Given the description of an element on the screen output the (x, y) to click on. 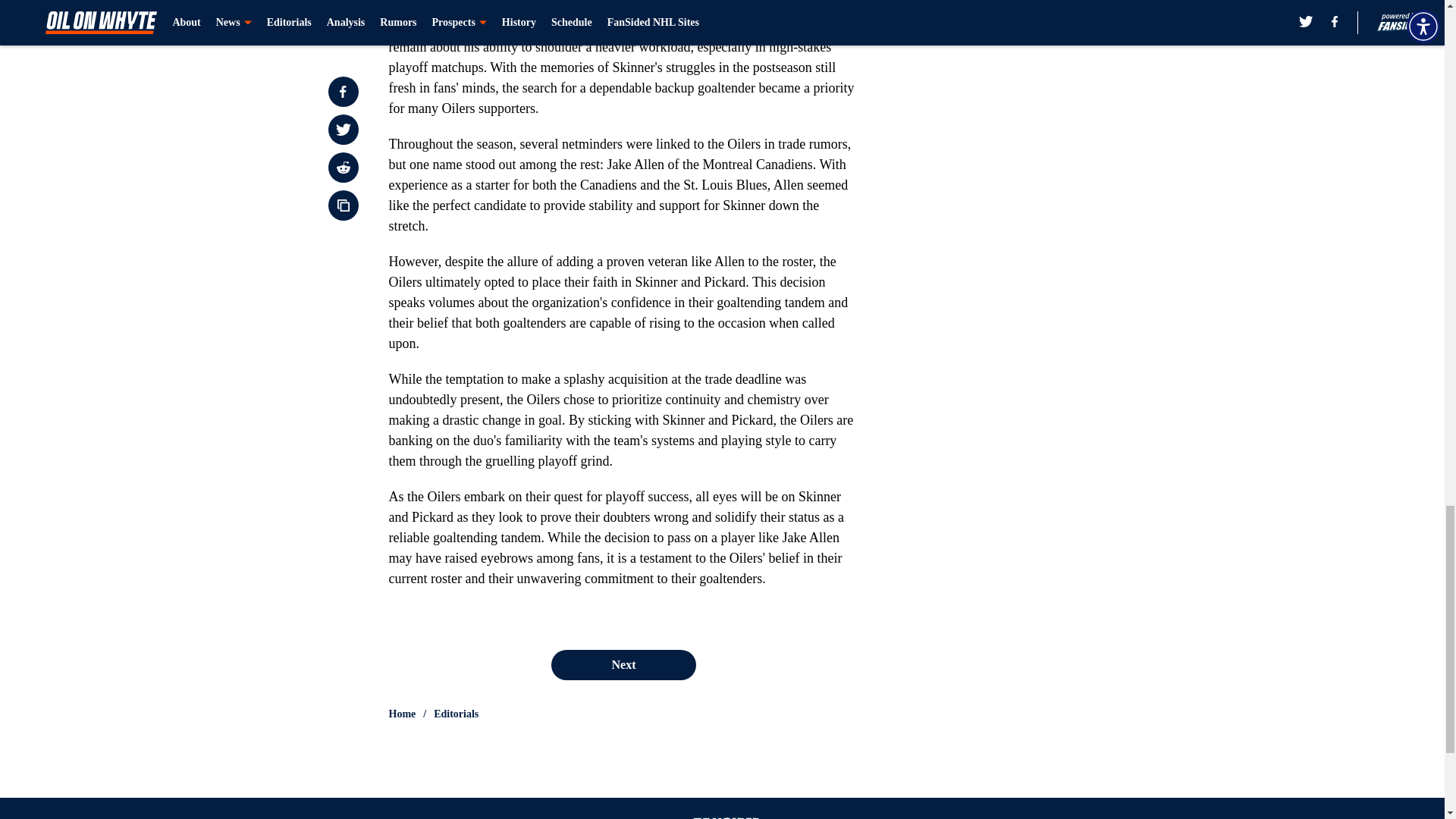
Calvin Pickard (428, 26)
Home (401, 713)
Next (622, 665)
Editorials (456, 713)
